Given the description of an element on the screen output the (x, y) to click on. 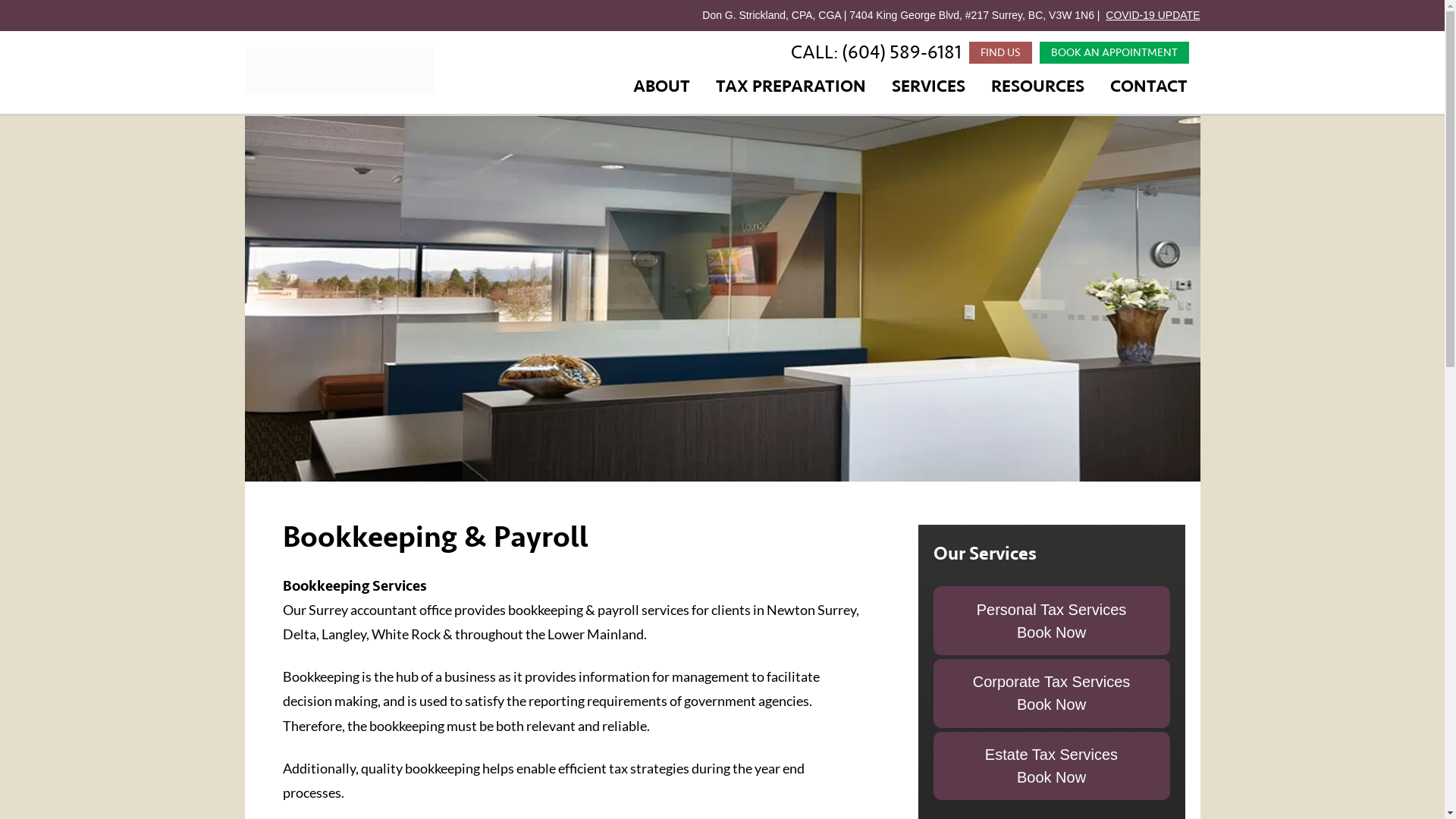
RESOURCES Element type: text (1036, 86)
ABOUT Element type: text (660, 86)
FIND US Element type: text (988, 52)
Estate Tax Services
Book Now Element type: text (1050, 765)
FIND US Element type: text (987, 52)
CONTACT Element type: text (1148, 86)
Corporate Tax Services
Book Now Element type: text (1050, 693)
BOOK AN APPOINTMENT Element type: text (1108, 52)
Personal Tax Services
Book Now Element type: text (1050, 620)
SERVICES Element type: text (928, 86)
BOOK AN APPOINTMENT Element type: text (1109, 52)
(604) 589-6181 Element type: text (882, 51)
COVID-19 UPDATE Element type: text (1152, 15)
TAX PREPARATION Element type: text (790, 86)
